Given the description of an element on the screen output the (x, y) to click on. 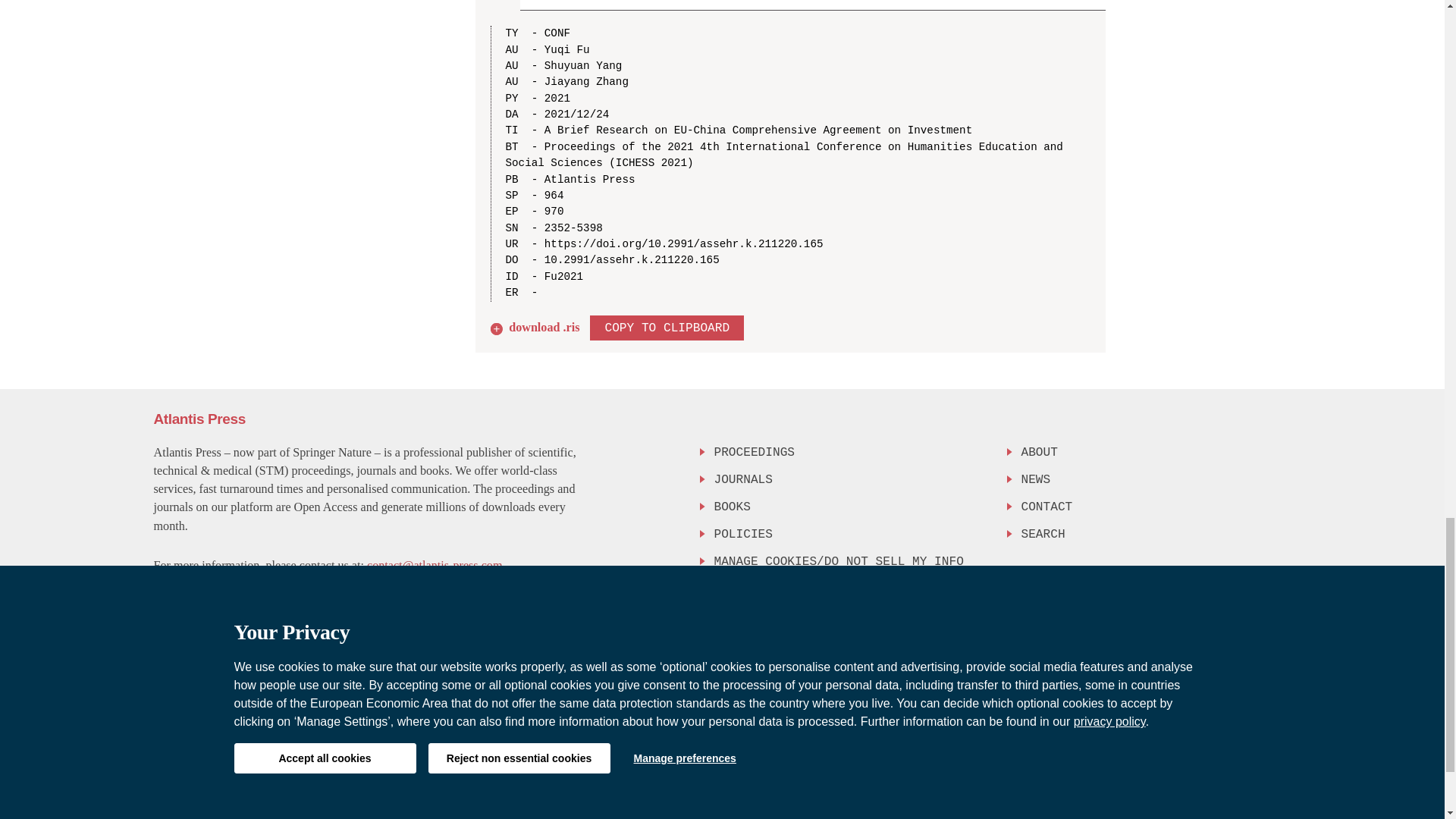
Facebook (1215, 629)
LinkedIn (1275, 629)
Twitter (1243, 629)
